Given the description of an element on the screen output the (x, y) to click on. 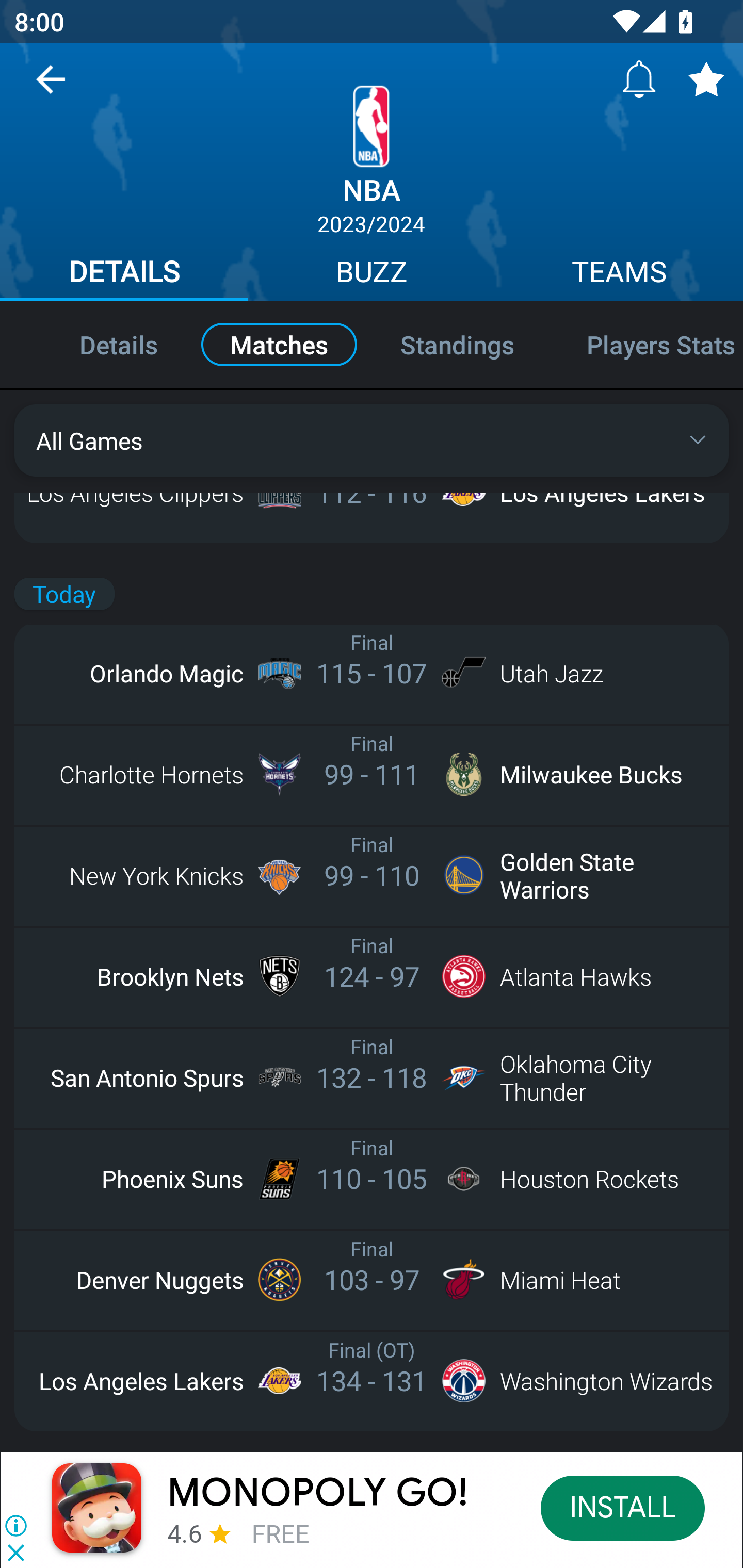
Navigate up (50, 86)
DETAILS (123, 274)
BUZZ (371, 274)
TEAMS (619, 274)
Details (96, 344)
Standings (457, 344)
Players Stats (646, 344)
All Games (371, 440)
Orlando Magic Final 115 - 107 Utah Jazz (371, 673)
Charlotte Hornets Final 99 - 111 Milwaukee Bucks (371, 774)
Brooklyn Nets Final 124 - 97 Atlanta Hawks (371, 976)
Phoenix Suns Final 110 - 105 Houston Rockets (371, 1178)
Denver Nuggets Final 103 - 97 Miami Heat (371, 1279)
MONOPOLY GO! (318, 1493)
INSTALL (623, 1507)
